Given the description of an element on the screen output the (x, y) to click on. 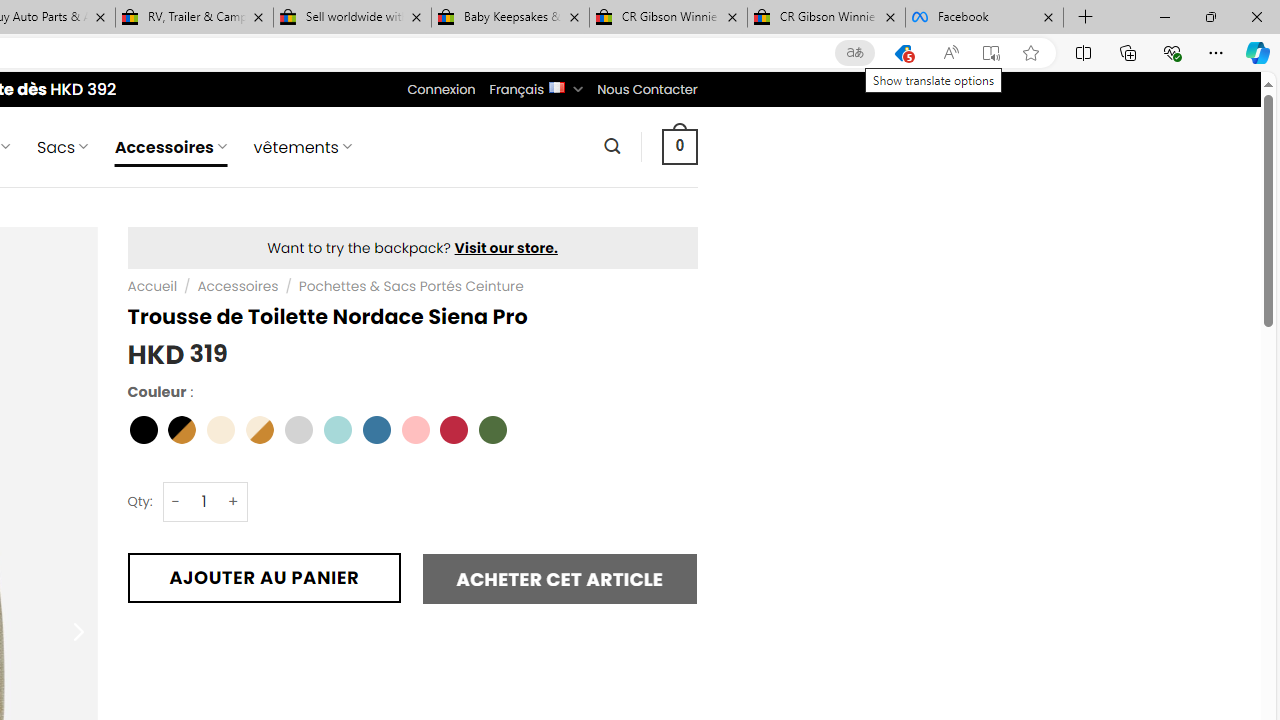
AJOUTER AU PANIER (263, 577)
- (175, 501)
Accueil (151, 286)
 0  (679, 146)
Accessoires (238, 286)
Visit our store. (506, 247)
